Given the description of an element on the screen output the (x, y) to click on. 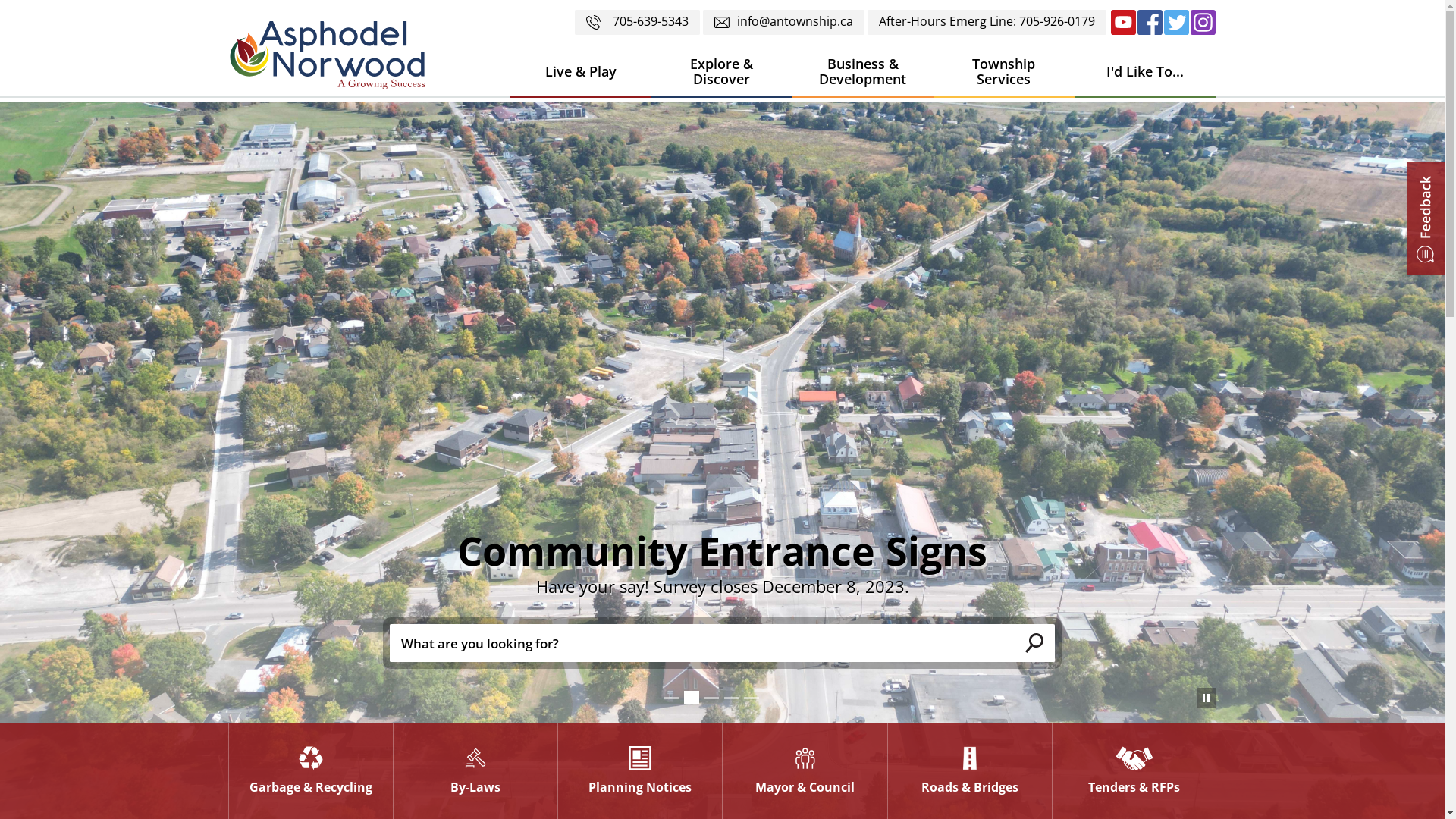
705-639-5343 Element type: text (636, 21)
Explore & Discover Element type: text (720, 72)
info@antownship.ca Element type: text (782, 21)
Public Skating Element type: text (722, 550)
After-Hours Emerg Line: 705-926-0179 Element type: text (986, 21)
Business & Development Element type: text (861, 72)
Live & Play Element type: text (579, 72)
Enter search keywords Element type: hover (701, 643)
Feedback Element type: text (1425, 218)
View our Homepage Element type: hover (332, 59)
Click to return to the homepage Element type: hover (326, 55)
Township Services Element type: text (1002, 72)
Play/Pause Banner Element type: text (1205, 697)
I'd Like To... Element type: text (1143, 72)
Skip to Content Element type: text (0, 0)
SEARCH Element type: text (1033, 643)
